Given the description of an element on the screen output the (x, y) to click on. 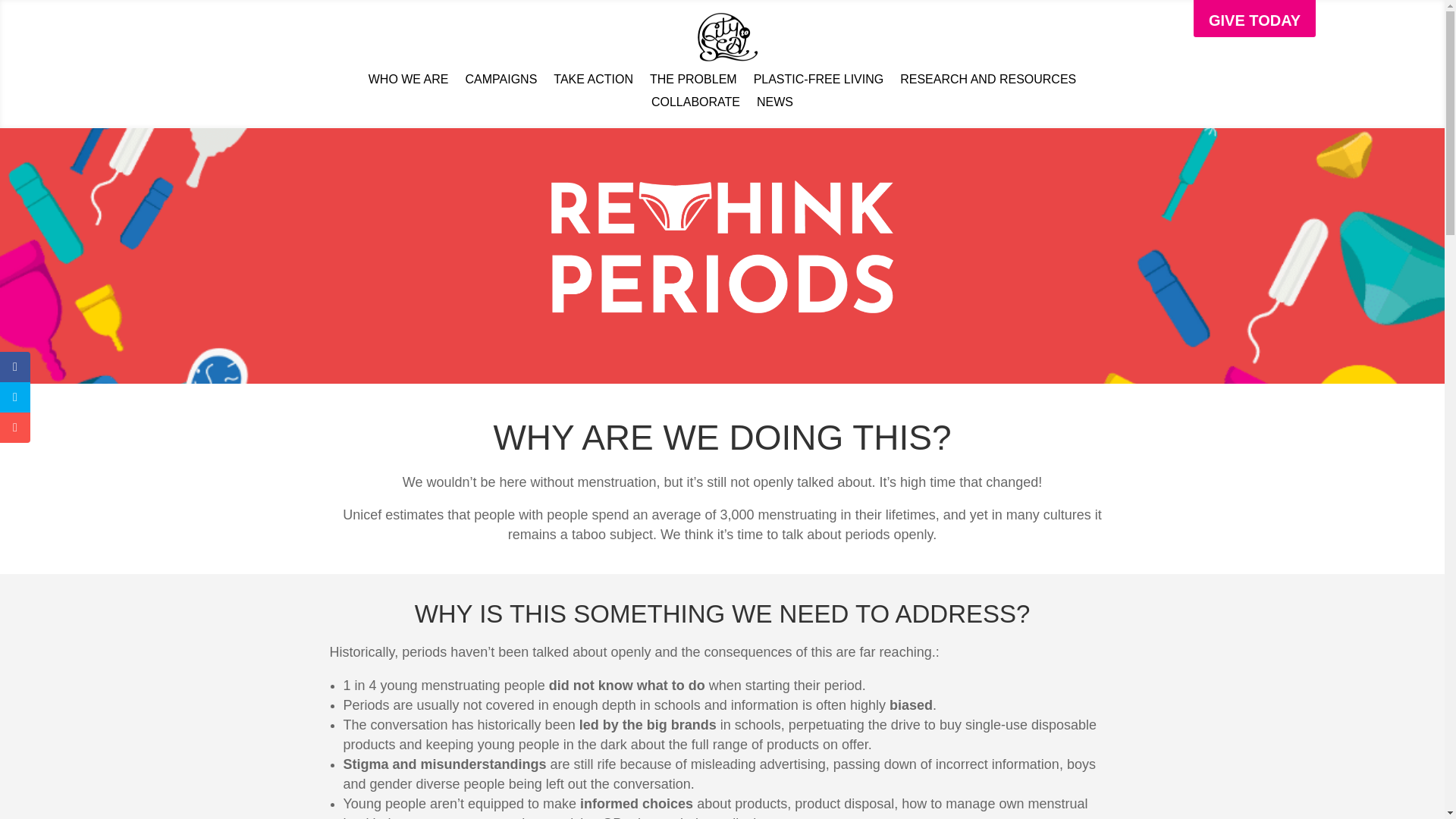
COLLABORATE (694, 105)
GIVE TODAY (1254, 18)
WHO WE ARE (408, 82)
RESEARCH AND RESOURCES (987, 82)
PLASTIC-FREE LIVING (818, 82)
CAMPAIGNS (501, 82)
NEWS (775, 105)
THE PROBLEM (692, 82)
TAKE ACTION (593, 82)
